Given the description of an element on the screen output the (x, y) to click on. 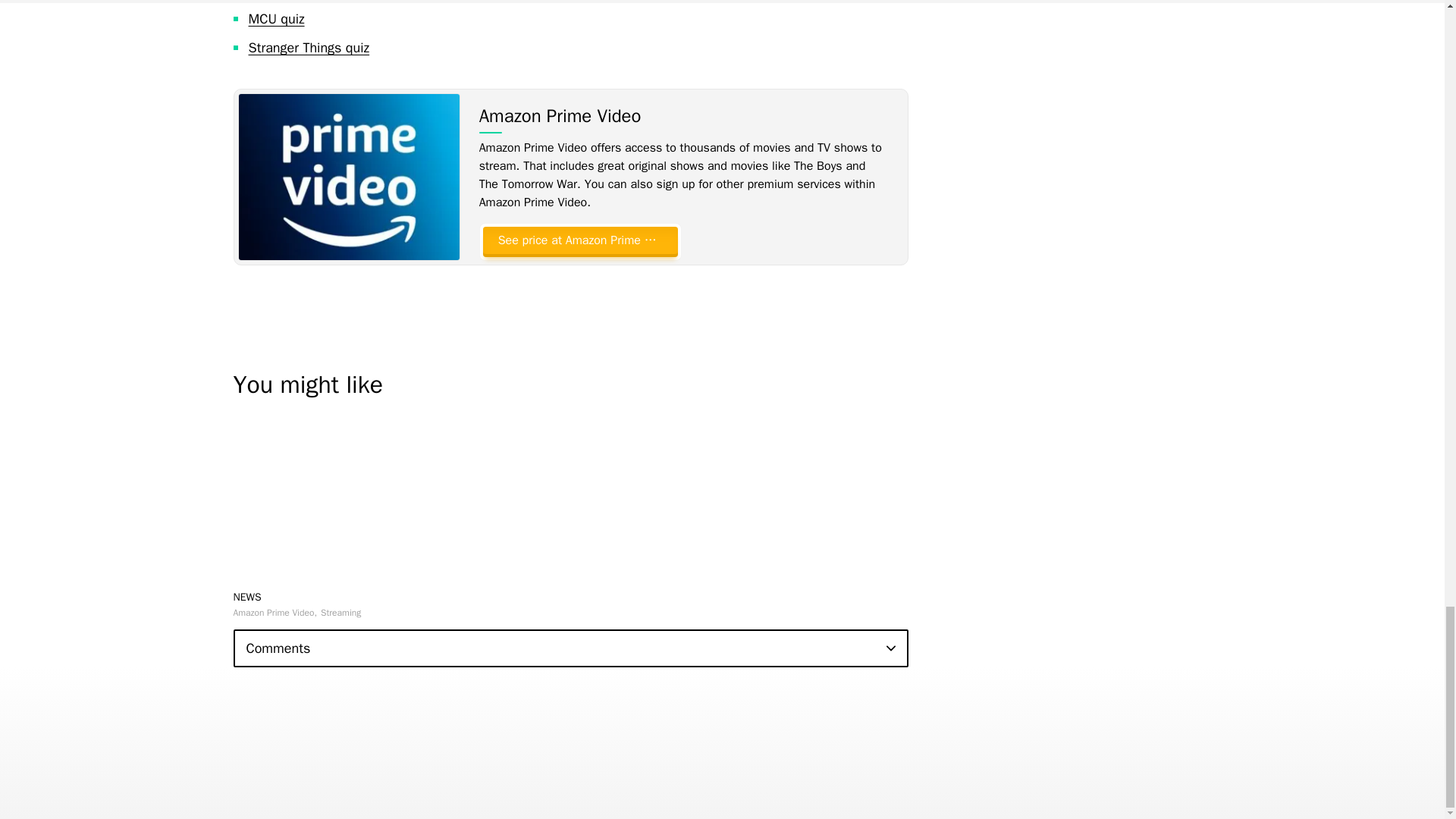
Prime video logo (348, 177)
